Given the description of an element on the screen output the (x, y) to click on. 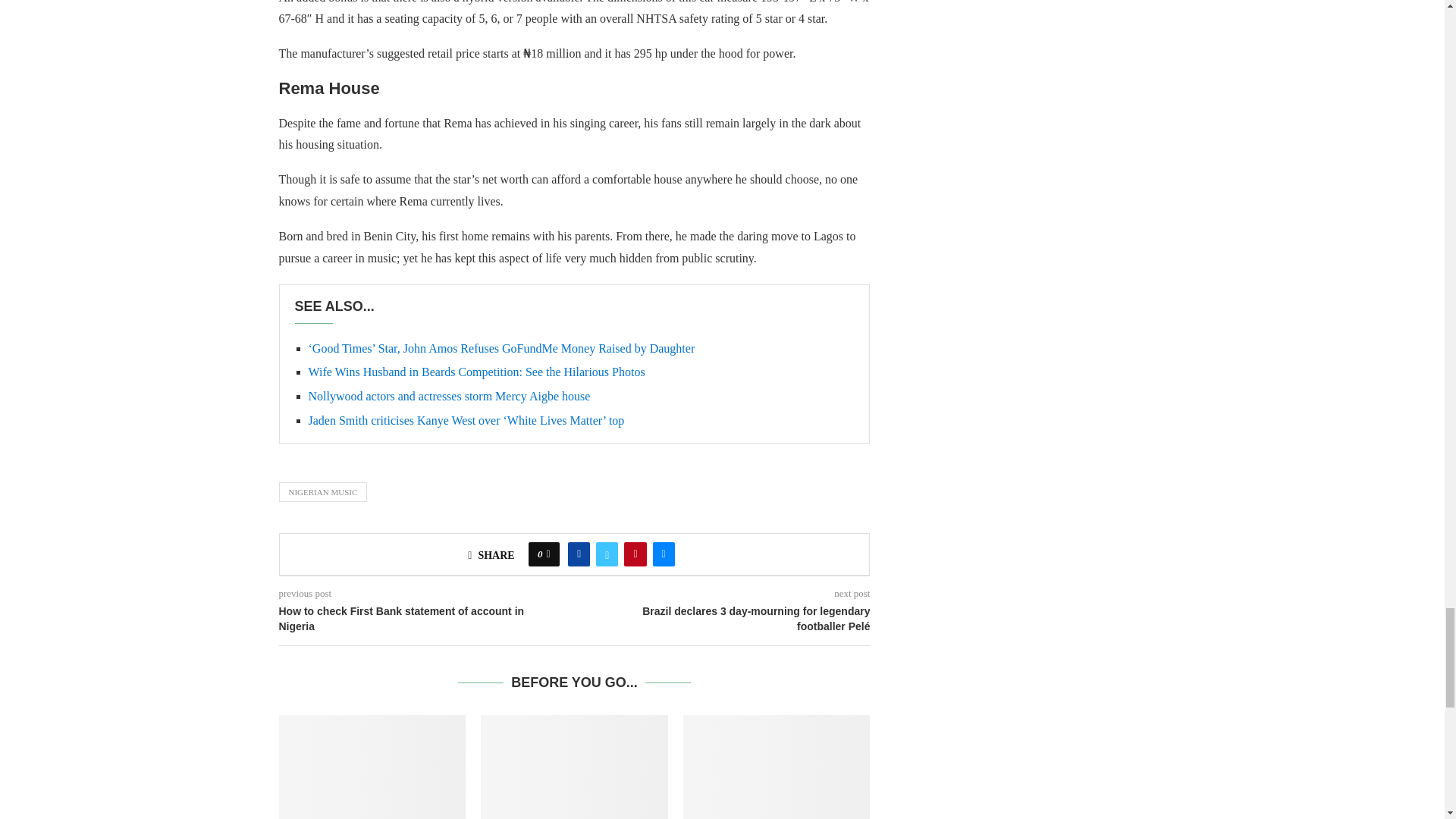
Burna Boy Gifts Tony Tetuila a Briefcase Full of Cash (372, 766)
Like (548, 554)
